Given the description of an element on the screen output the (x, y) to click on. 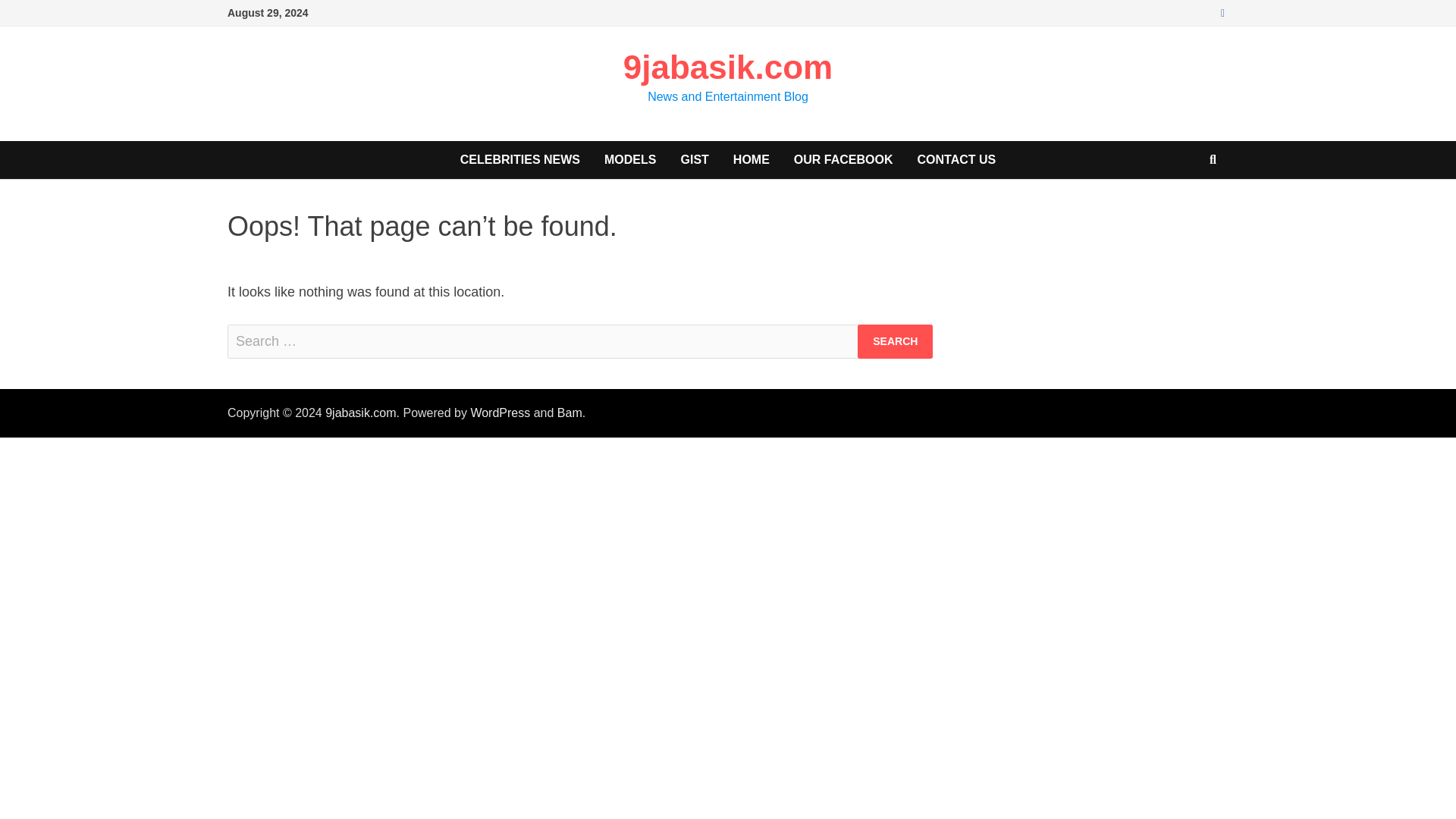
GIST (694, 159)
OUR FACEBOOK (843, 159)
Search (895, 341)
HOME (750, 159)
WordPress (499, 412)
Bam (569, 412)
Search (895, 341)
9jabasik.com (727, 66)
CELEBRITIES NEWS (520, 159)
MODELS (630, 159)
